Given the description of an element on the screen output the (x, y) to click on. 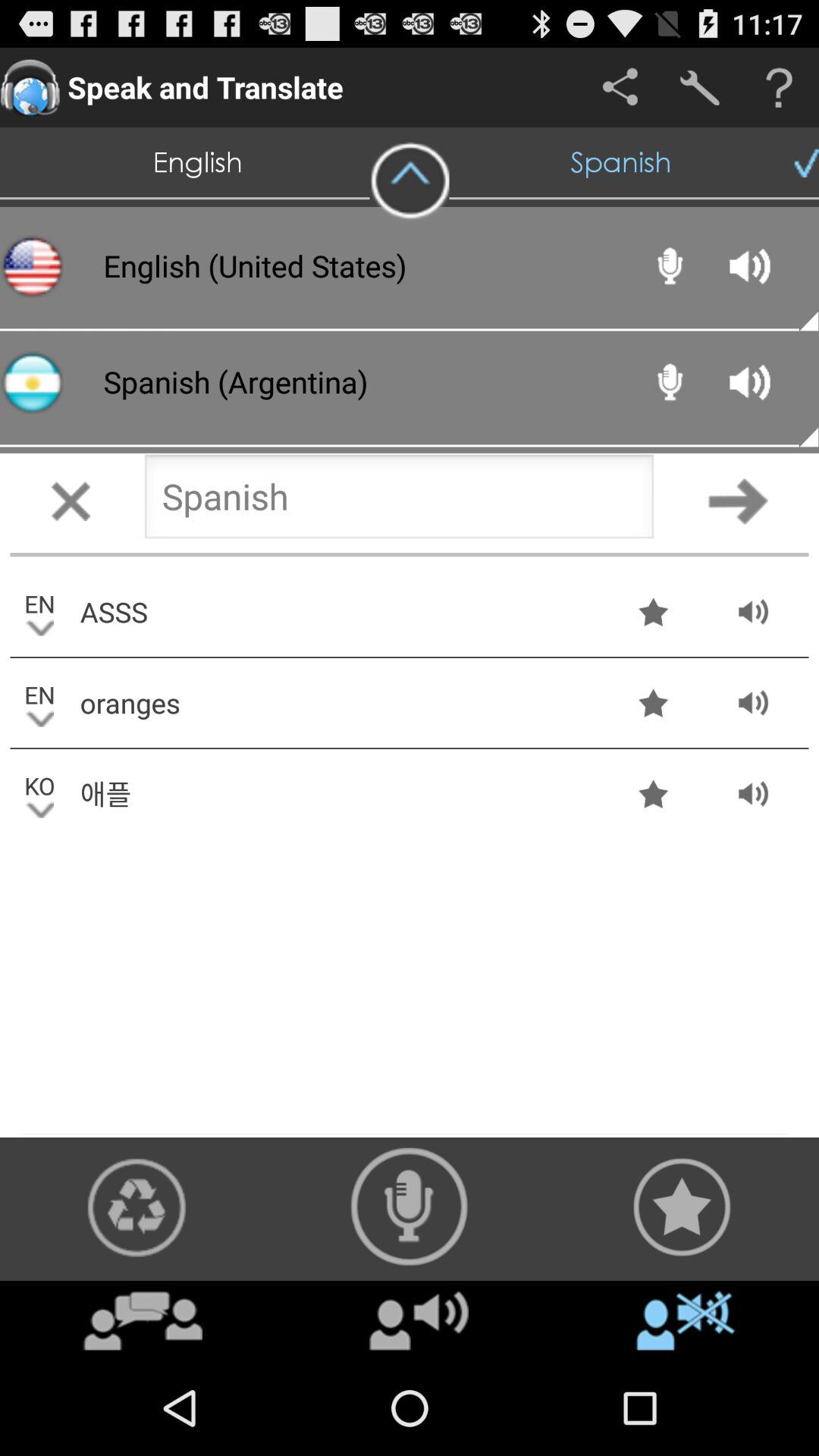
click the icon above   item (409, 1206)
